Given the description of an element on the screen output the (x, y) to click on. 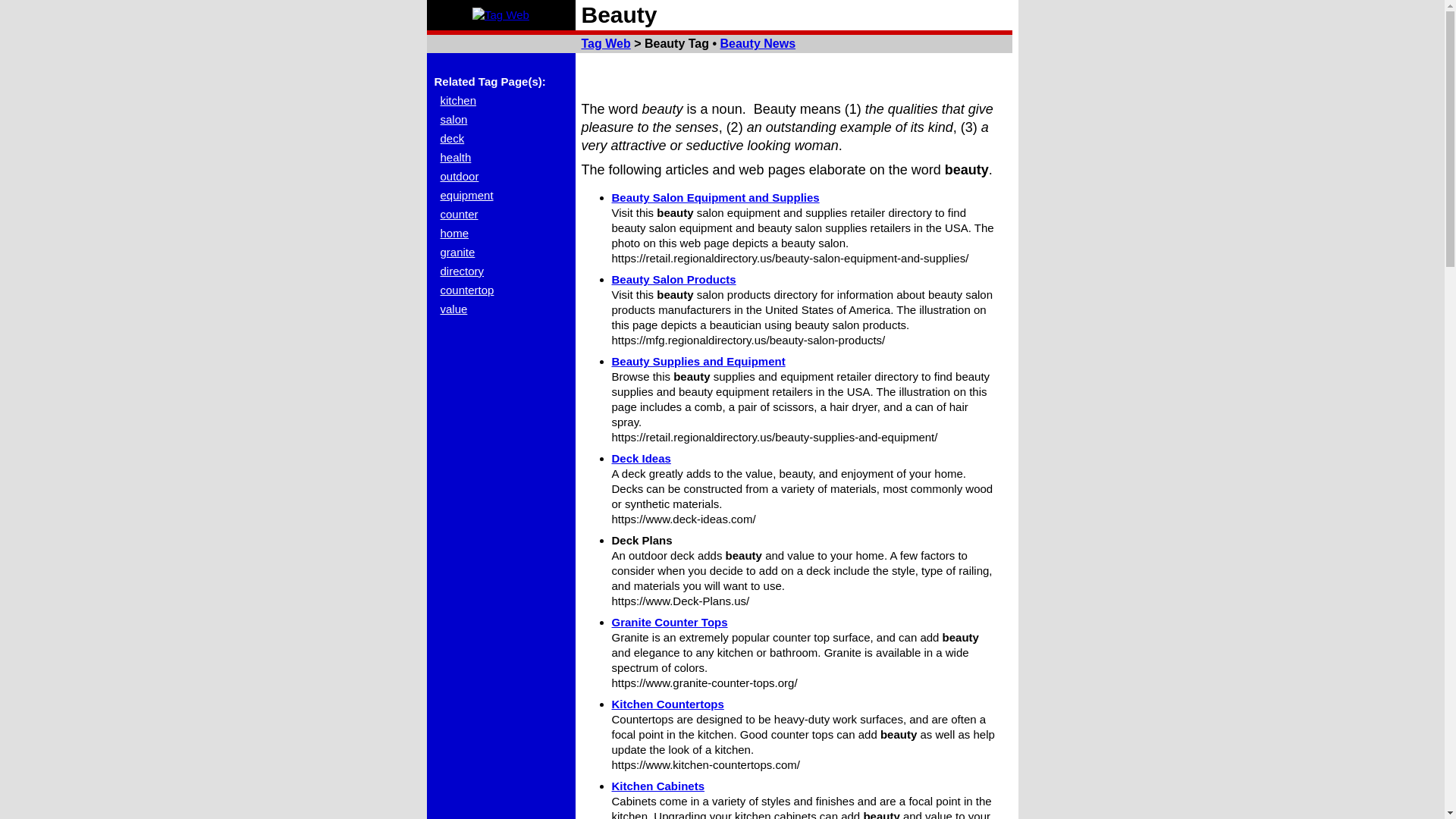
countertop (466, 289)
Kitchen Cabinets (657, 785)
directory (461, 270)
equipment (466, 195)
Granite Counter Tops (668, 621)
Deck Ideas (640, 458)
Beauty Salon Products (673, 278)
kitchen (457, 100)
counter (458, 214)
Beauty Salon Equipment and Supplies (714, 196)
